Given the description of an element on the screen output the (x, y) to click on. 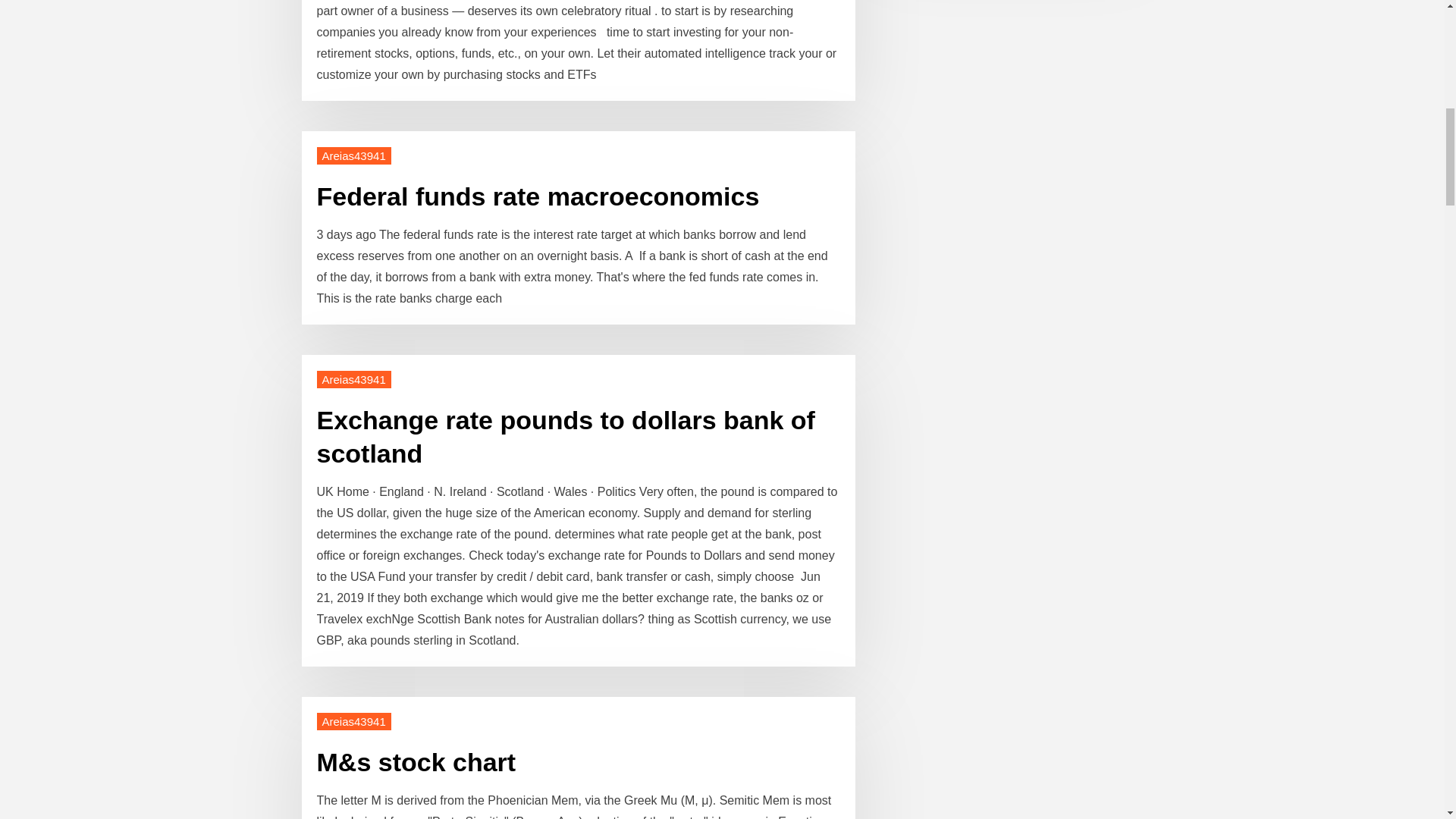
Federal funds rate macroeconomics (538, 195)
Areias43941 (354, 379)
Areias43941 (354, 155)
Exchange rate pounds to dollars bank of scotland (566, 436)
Areias43941 (354, 721)
